Given the description of an element on the screen output the (x, y) to click on. 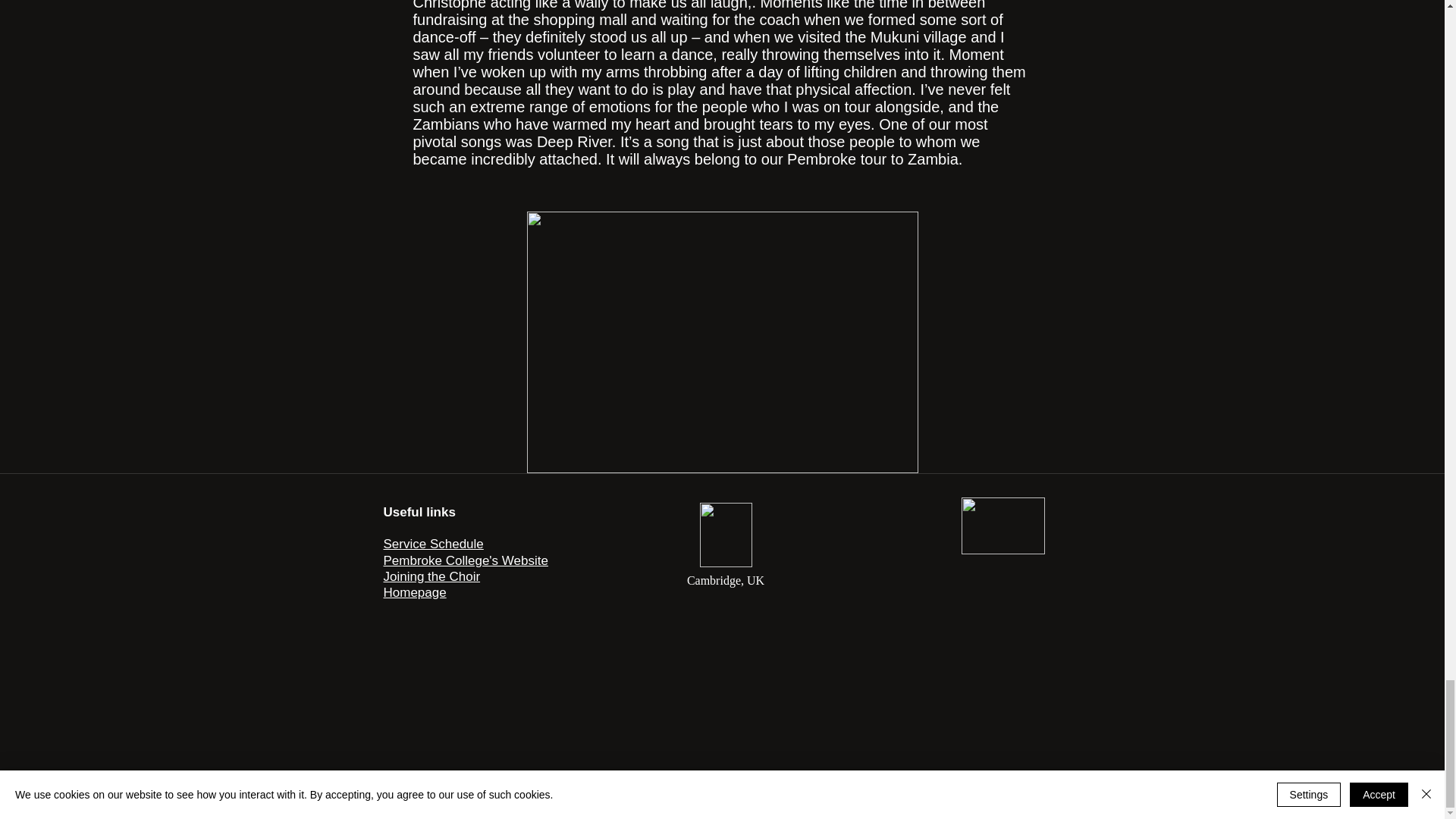
Pembroke College's Website (466, 560)
Service Schedule (433, 544)
